Given the description of an element on the screen output the (x, y) to click on. 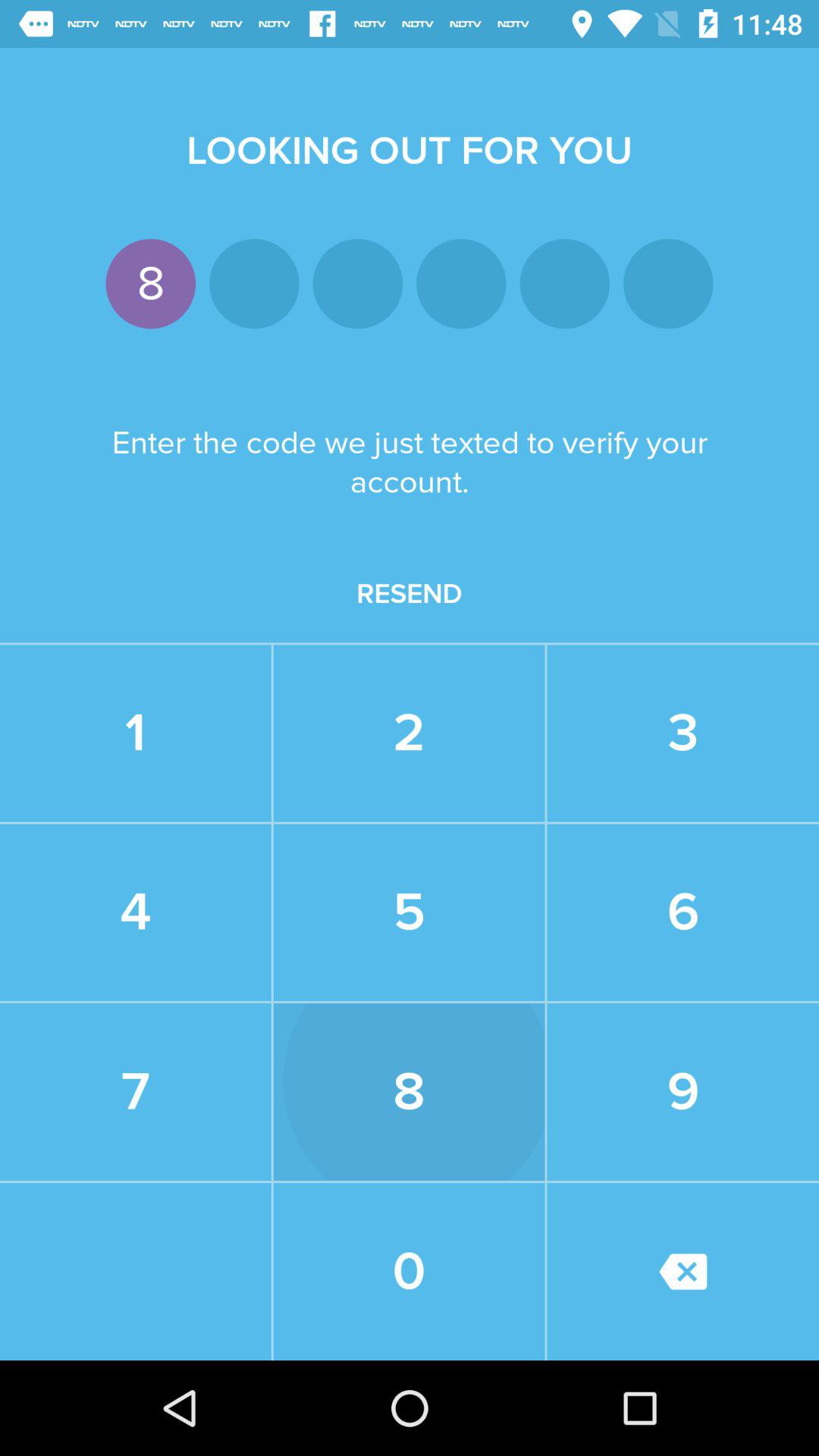
flip to the 6 icon (683, 912)
